Given the description of an element on the screen output the (x, y) to click on. 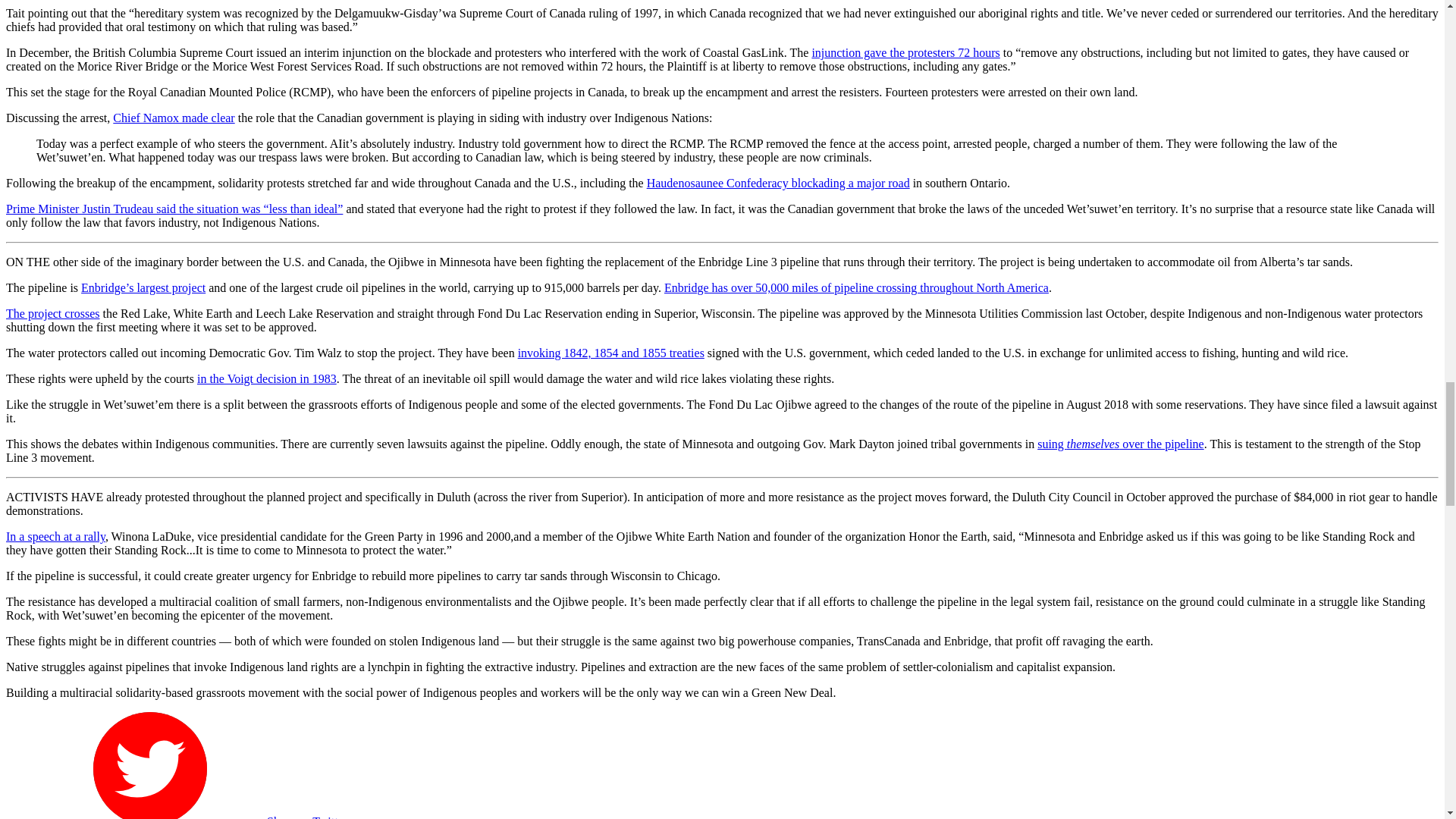
Share on Twitter (191, 816)
